Given the description of an element on the screen output the (x, y) to click on. 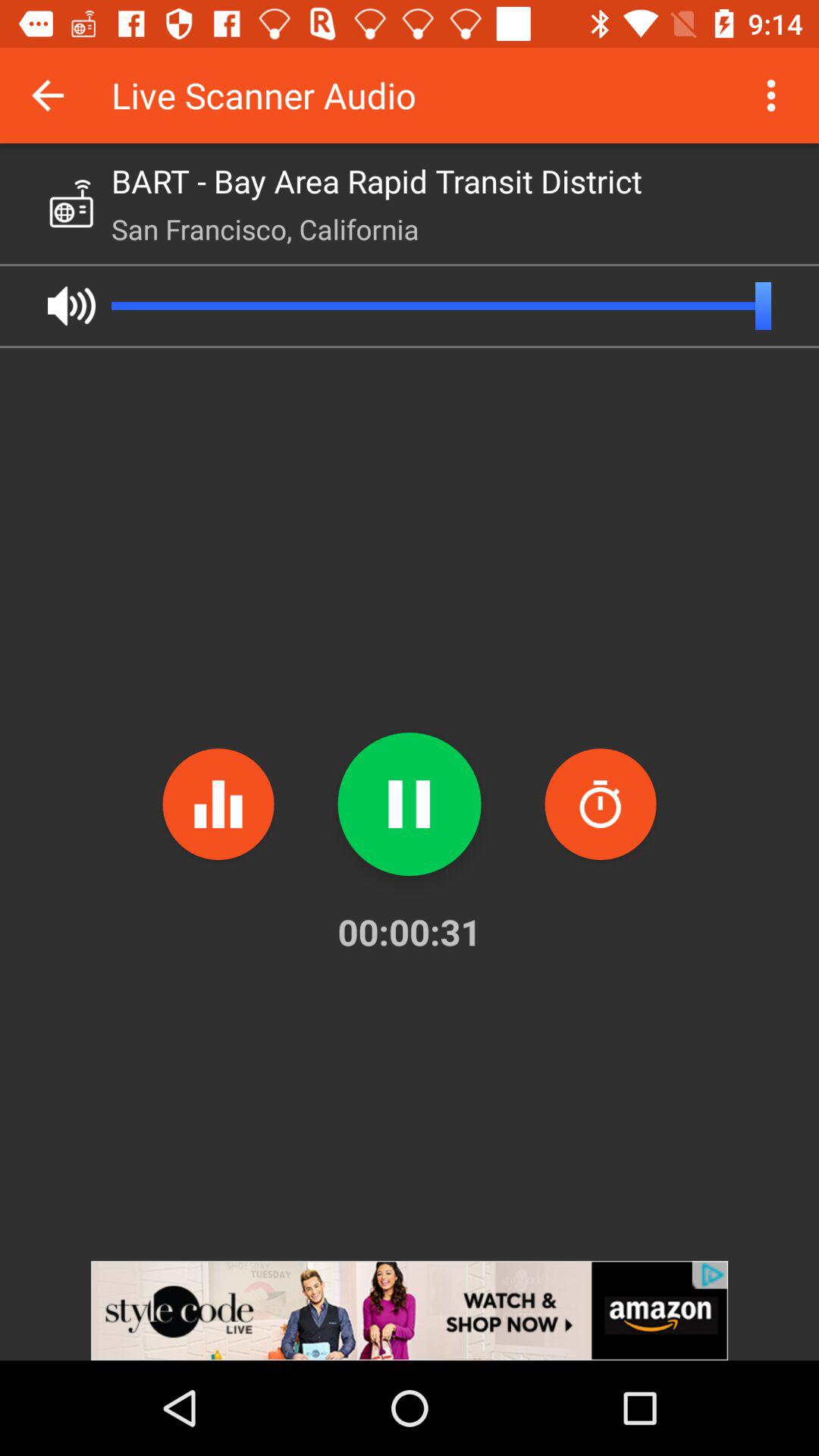
pause song (409, 803)
